Given the description of an element on the screen output the (x, y) to click on. 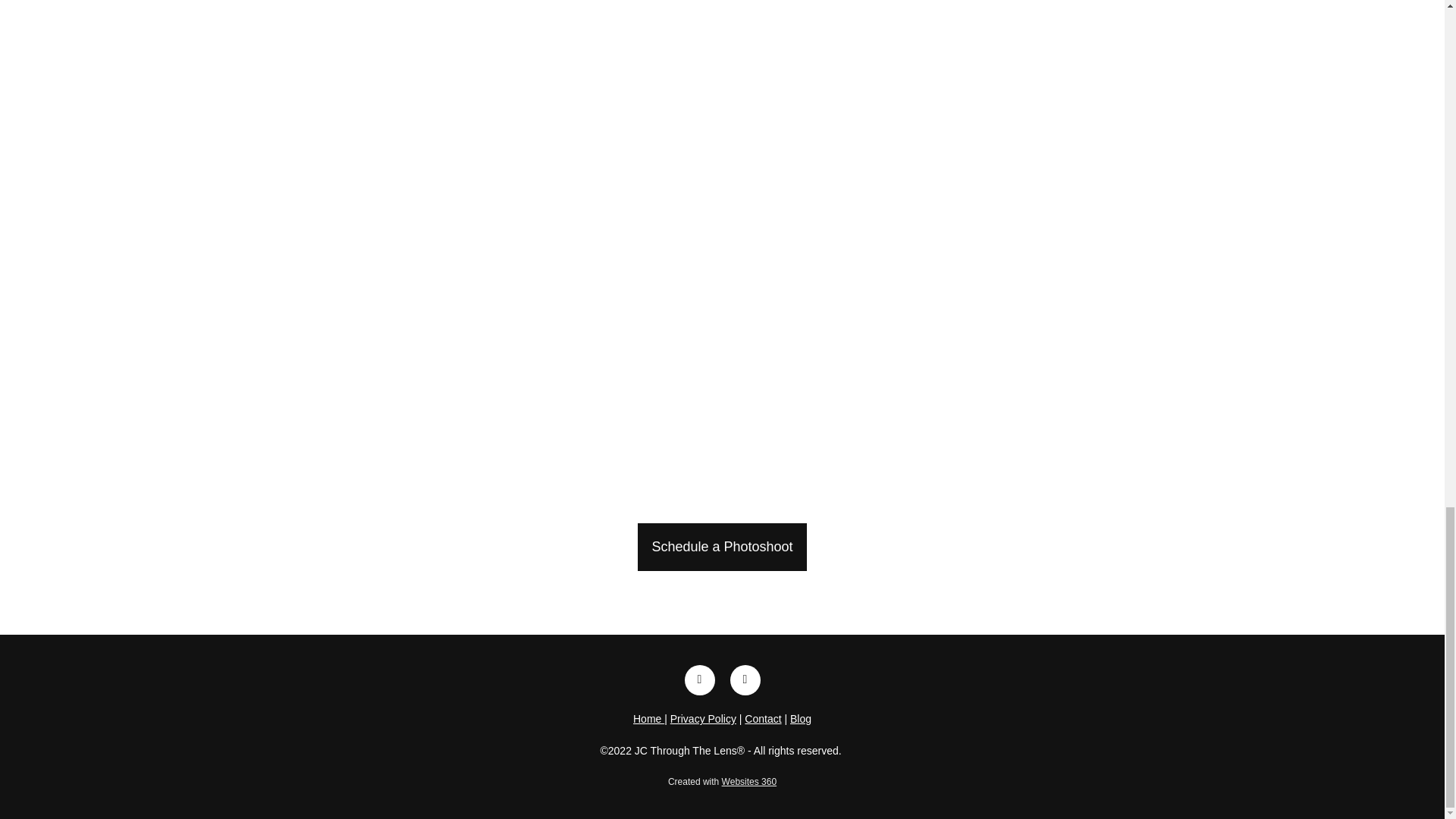
Created with Websites 360 (722, 781)
Home (648, 718)
Schedule a Photoshoot (721, 546)
Blog (800, 718)
Privacy Policy (702, 718)
Contact (762, 718)
